Given the description of an element on the screen output the (x, y) to click on. 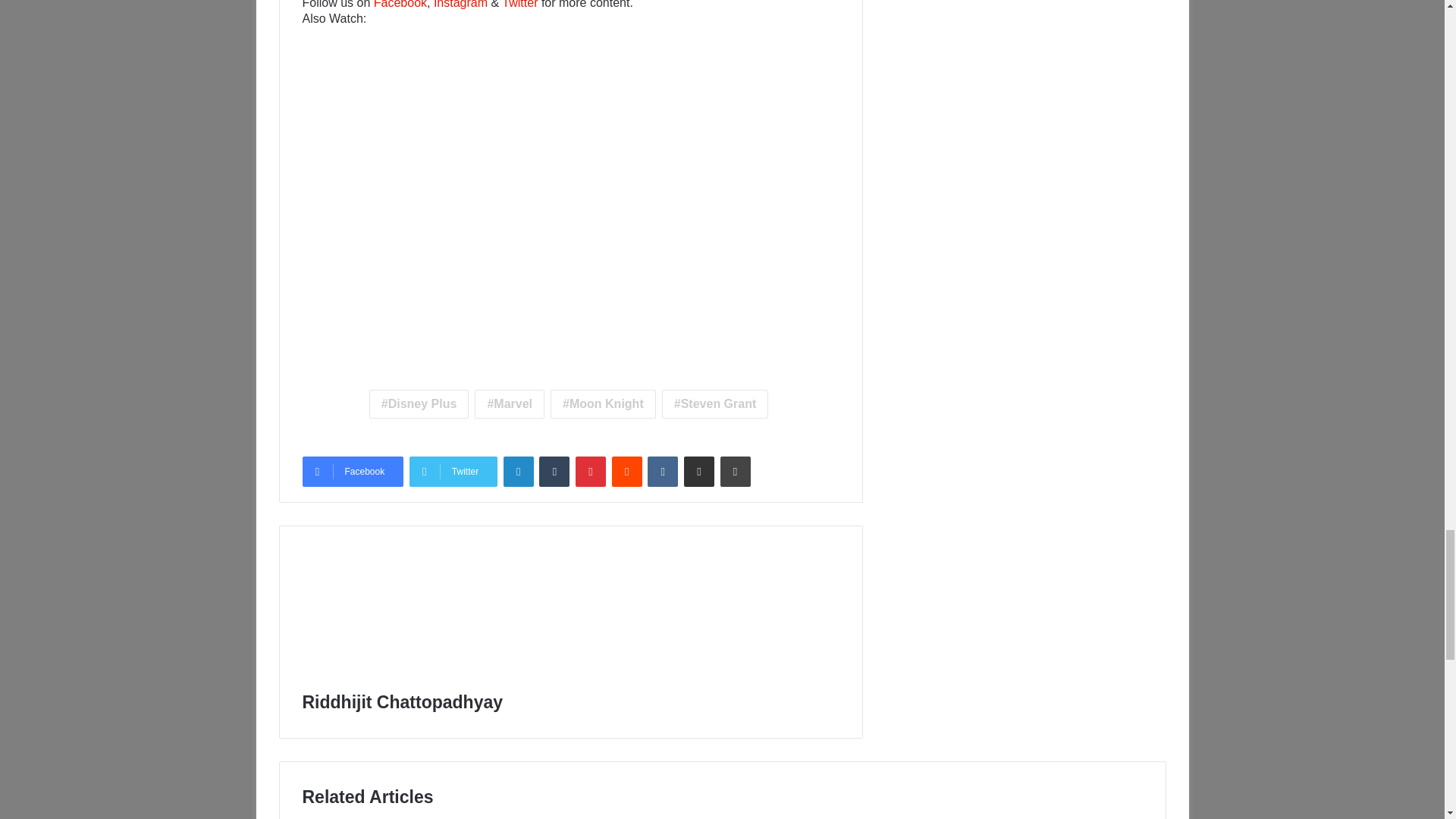
Facebook (352, 471)
Facebook (400, 4)
Instagram (460, 4)
Share via Email (699, 471)
LinkedIn (518, 471)
Print (735, 471)
Tumblr (553, 471)
Reddit (626, 471)
Marvel (509, 403)
Twitter (519, 4)
VKontakte (662, 471)
Facebook (352, 471)
Steven Grant (715, 403)
Pinterest (590, 471)
Disney Plus (418, 403)
